Given the description of an element on the screen output the (x, y) to click on. 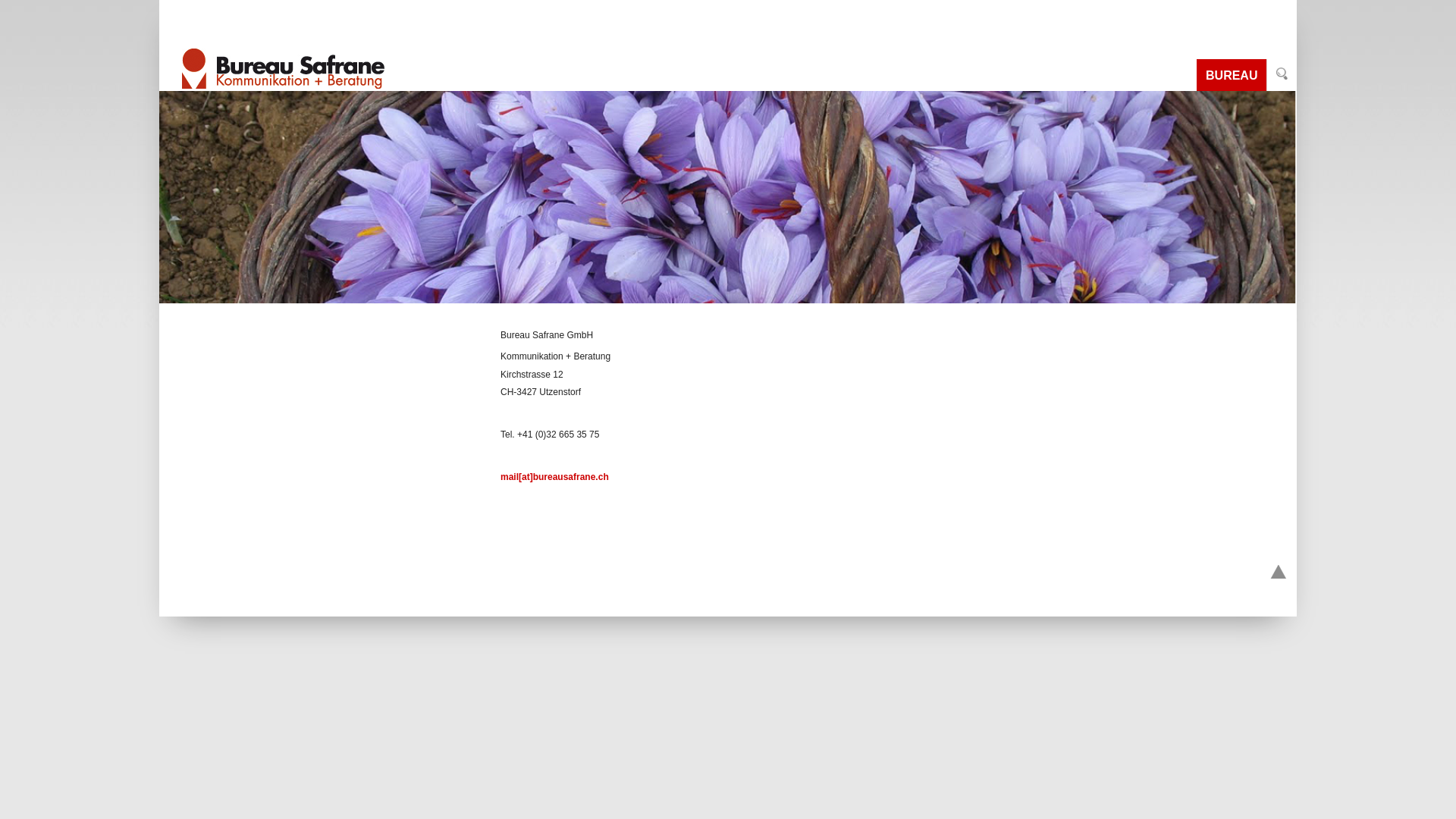
Go to top Element type: hover (1278, 572)
mail[at]bureausafrane.ch Element type: text (554, 476)
BUREAU Element type: text (1231, 75)
